Given the description of an element on the screen output the (x, y) to click on. 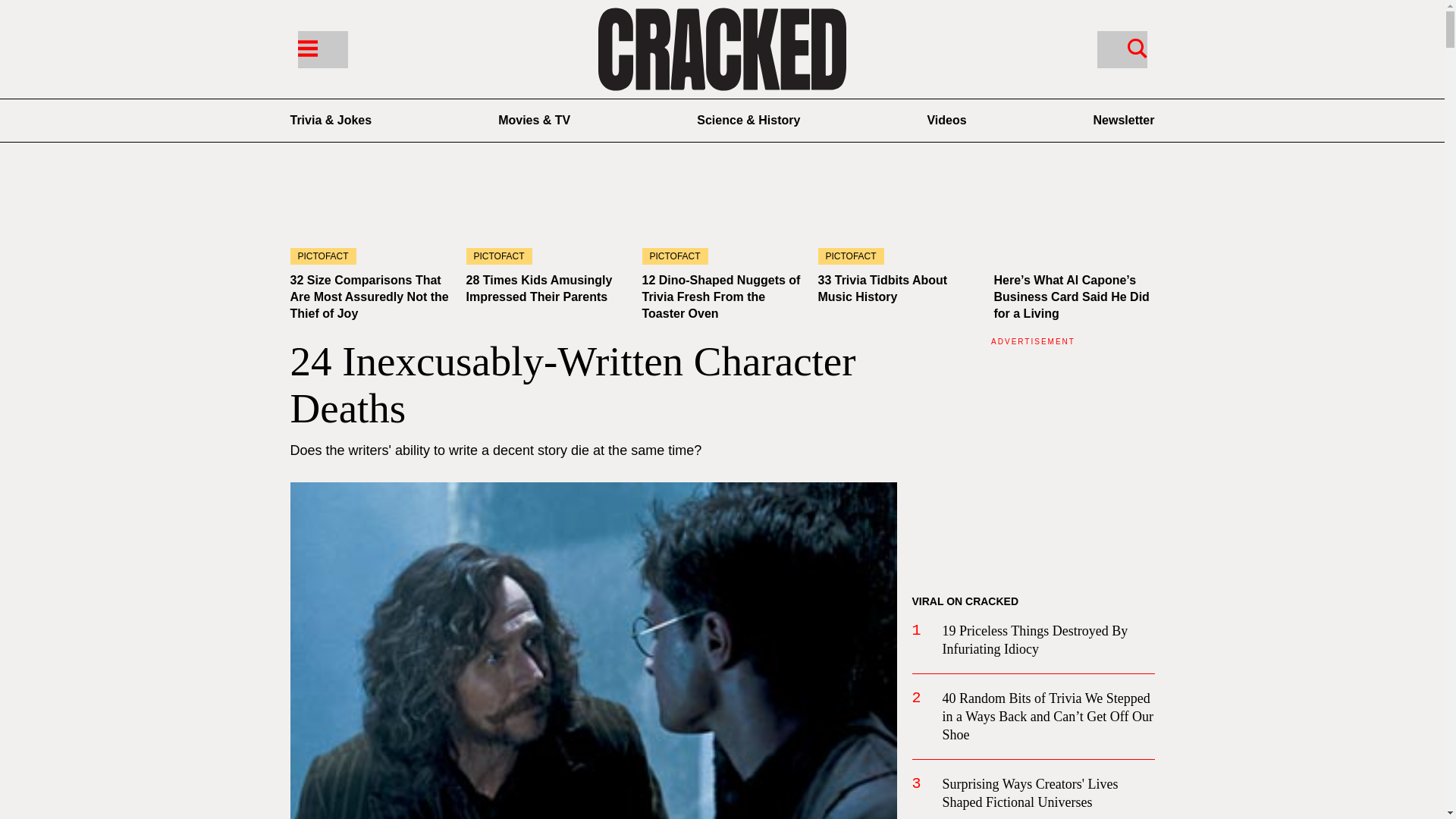
Videos (946, 119)
PICTOFACT (545, 219)
PICTOFACT (722, 219)
PICTOFACT (897, 219)
Search (1136, 47)
Cracked Newsletter (1123, 119)
Newsletter (1123, 119)
Menu (307, 47)
Menu (322, 48)
28 Times Kids Amusingly Impressed Their Parents (545, 219)
33 Trivia Tidbits About Music History (881, 288)
Search (1121, 48)
12 Dino-Shaped Nuggets of Trivia Fresh From the Toaster Oven (720, 296)
28 Times Kids Amusingly Impressed Their Parents (538, 288)
